Given the description of an element on the screen output the (x, y) to click on. 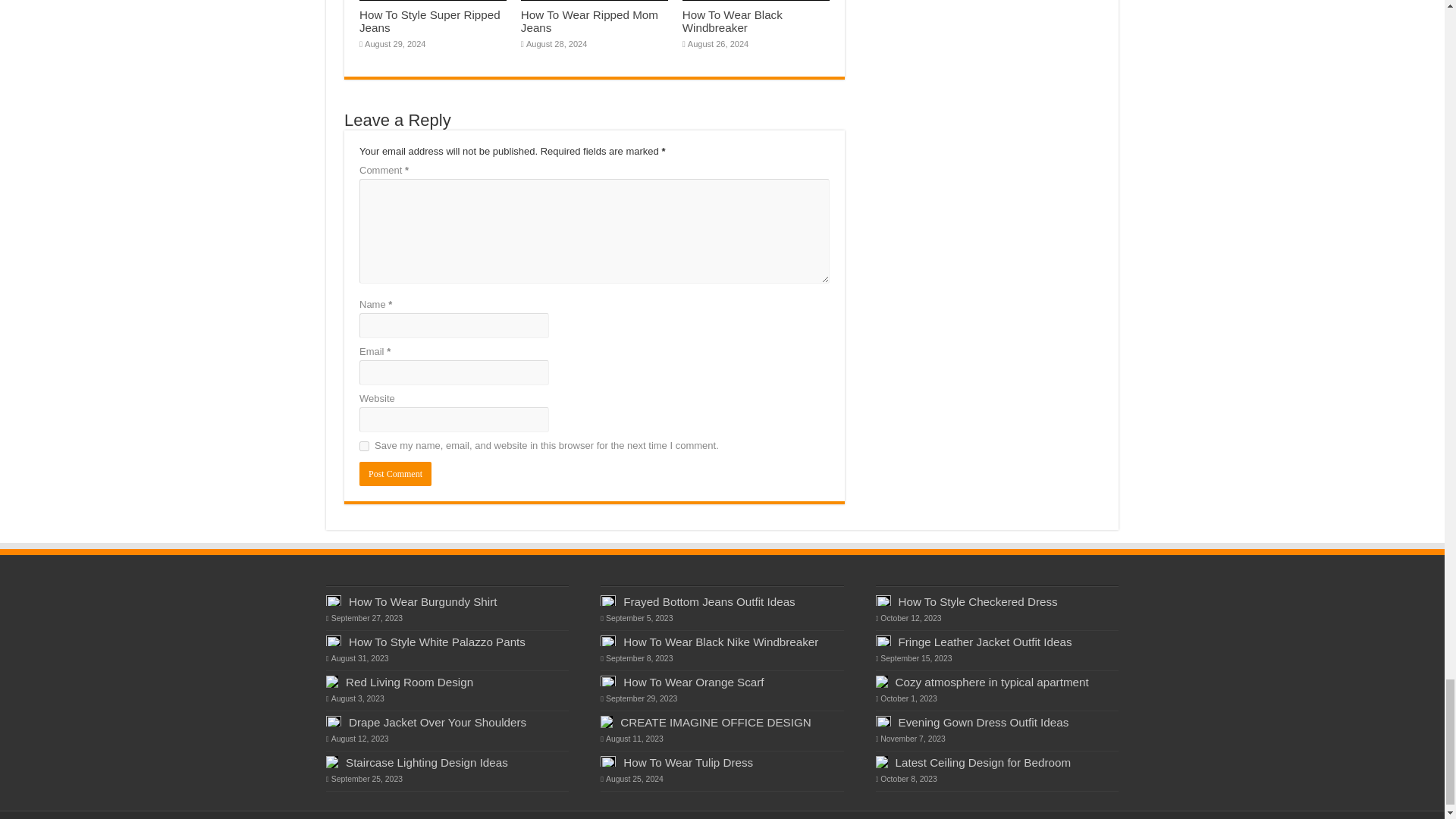
Red Living Room Design (409, 681)
How To Wear Ripped Mom Jeans (589, 21)
How To Wear Burgundy Shirt (422, 601)
Post Comment (394, 473)
Post Comment (394, 473)
How To Style Super Ripped Jeans (429, 21)
How To Style White Palazzo Pants (437, 641)
How To Wear Black Windbreaker (732, 21)
yes (364, 446)
